Given the description of an element on the screen output the (x, y) to click on. 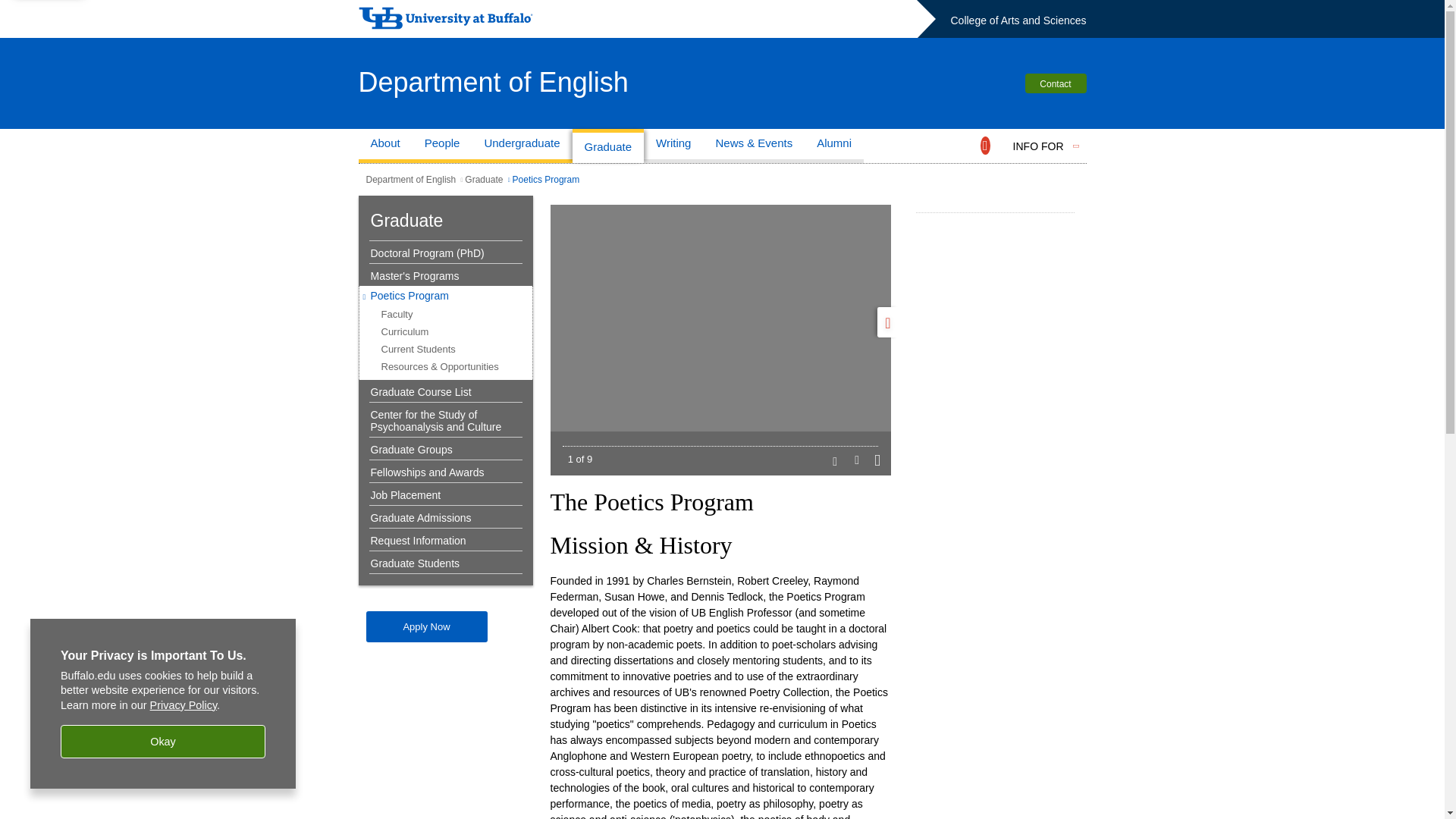
People (441, 145)
Undergraduate (521, 145)
Contact (1055, 83)
About (385, 145)
College of Arts and Sciences (1018, 19)
Department of English (492, 81)
